Given the description of an element on the screen output the (x, y) to click on. 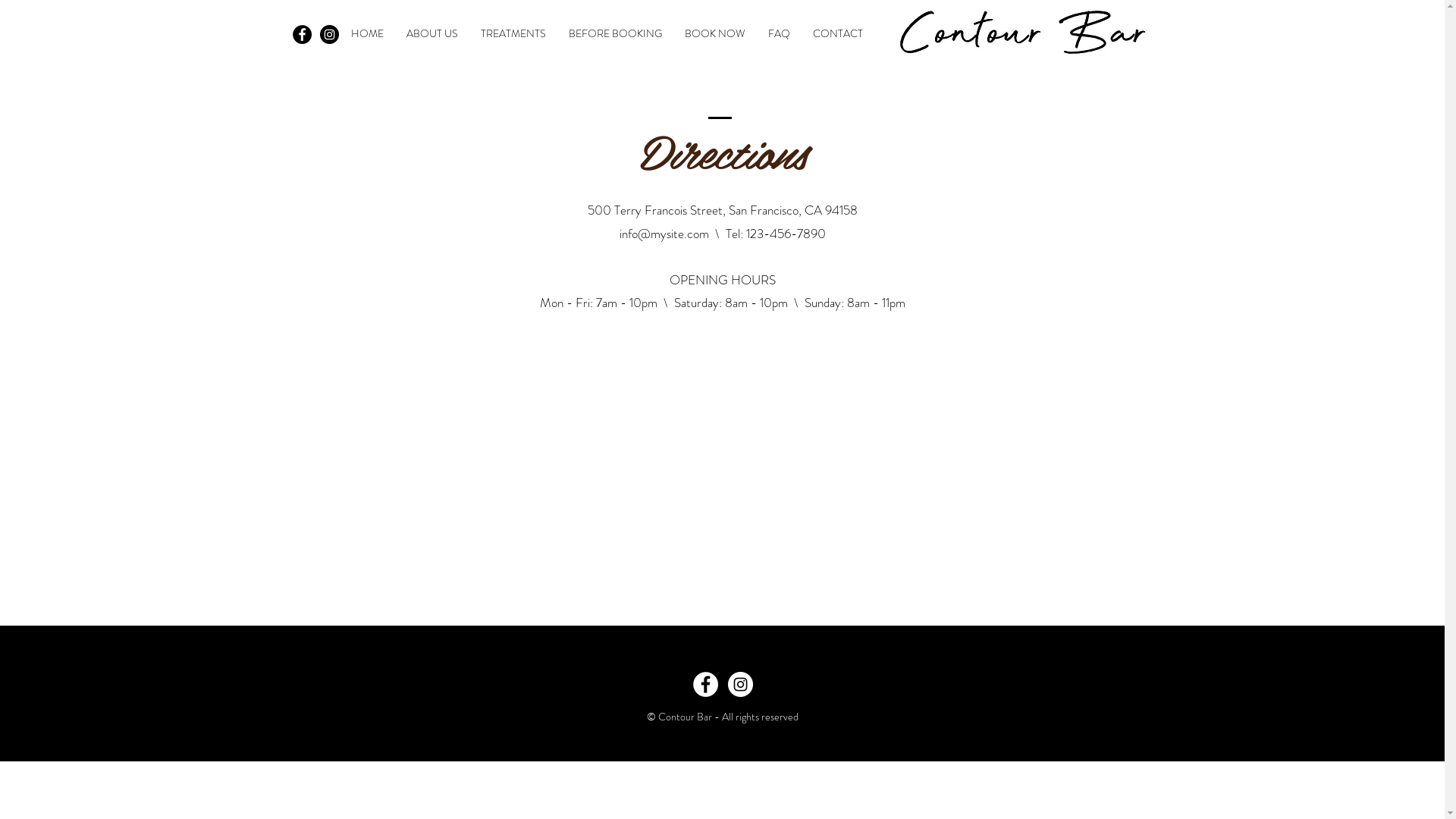
FAQ Element type: text (778, 33)
TREATMENTS Element type: text (512, 33)
HOME Element type: text (367, 33)
CONTACT Element type: text (836, 33)
ABOUT US Element type: text (431, 33)
BEFORE BOOKING Element type: text (614, 33)
Google Maps Element type: hover (721, 462)
BOOK NOW Element type: text (714, 33)
info@mysite.com Element type: text (663, 233)
